Given the description of an element on the screen output the (x, y) to click on. 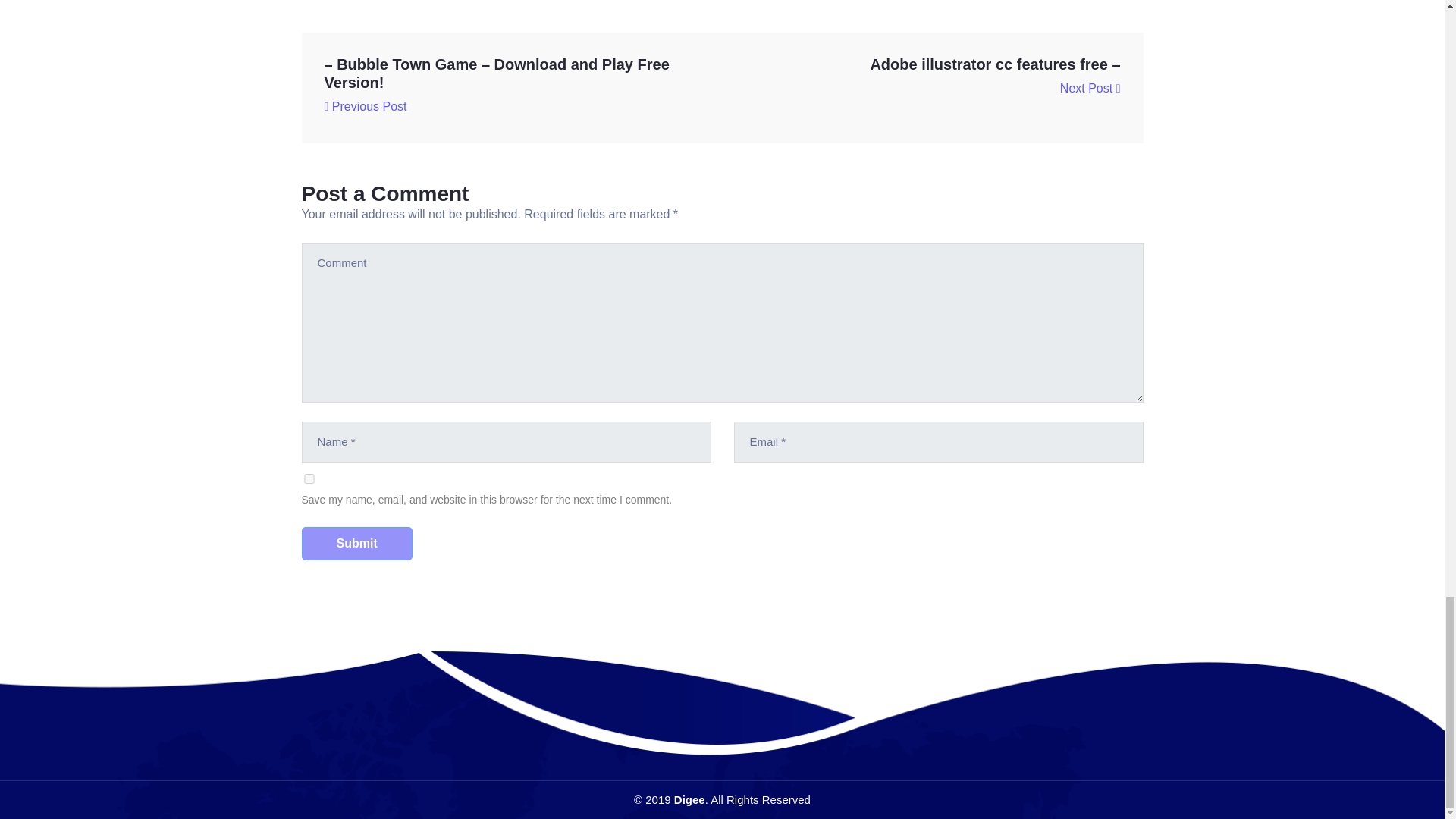
Submit (356, 543)
yes (309, 479)
Digee (689, 799)
